Given the description of an element on the screen output the (x, y) to click on. 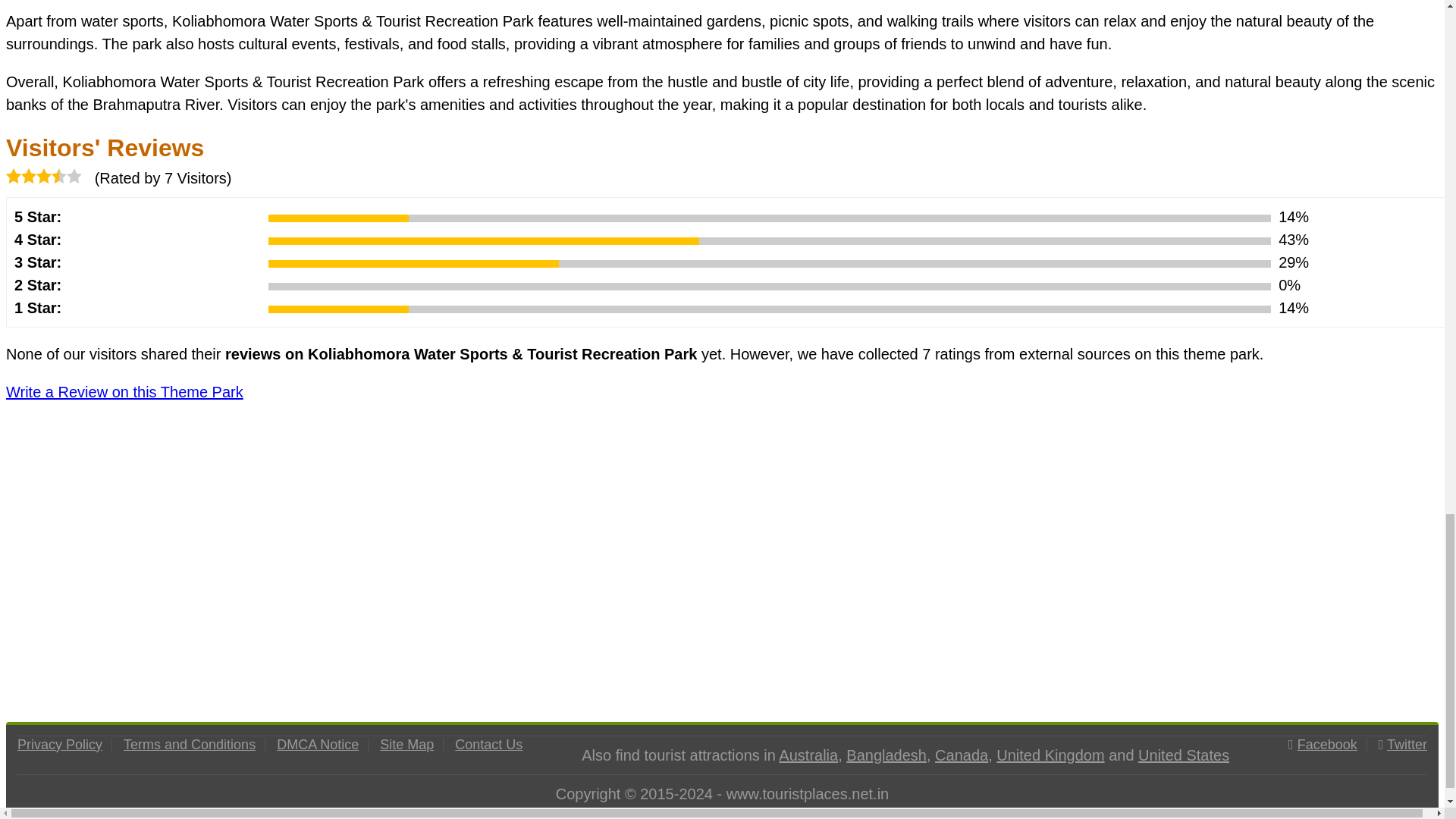
DMCA Notice (317, 744)
Site Map (406, 744)
Terms and Conditions (189, 744)
Privacy Policy (59, 744)
Write a Review on this Theme Park (124, 392)
